Given the description of an element on the screen output the (x, y) to click on. 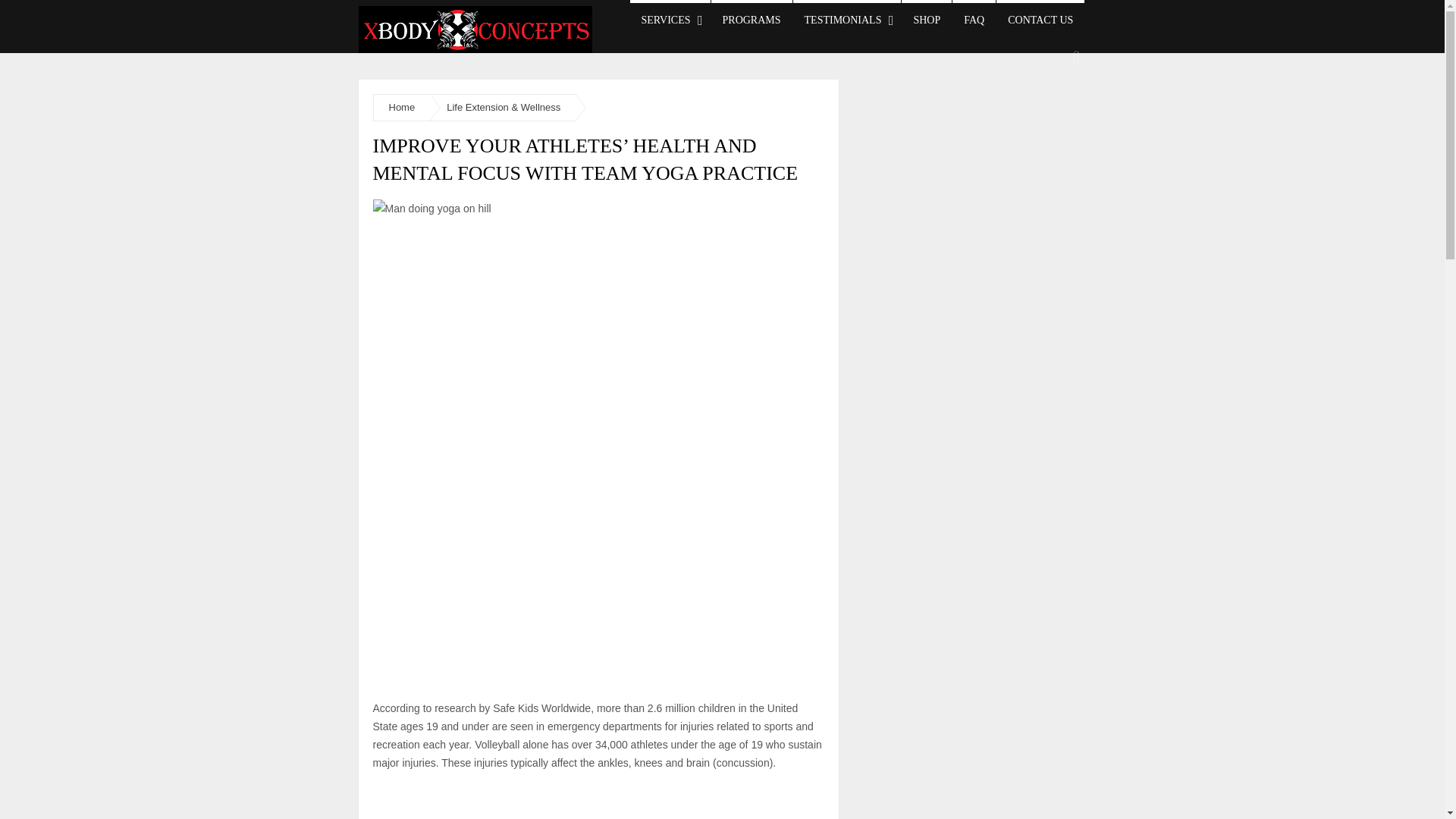
SERVICES (669, 18)
PROGRAMS (751, 18)
FAQ (973, 18)
Home (401, 107)
CONTACT US (1039, 18)
SHOP (926, 18)
TESTIMONIALS (847, 18)
